Given the description of an element on the screen output the (x, y) to click on. 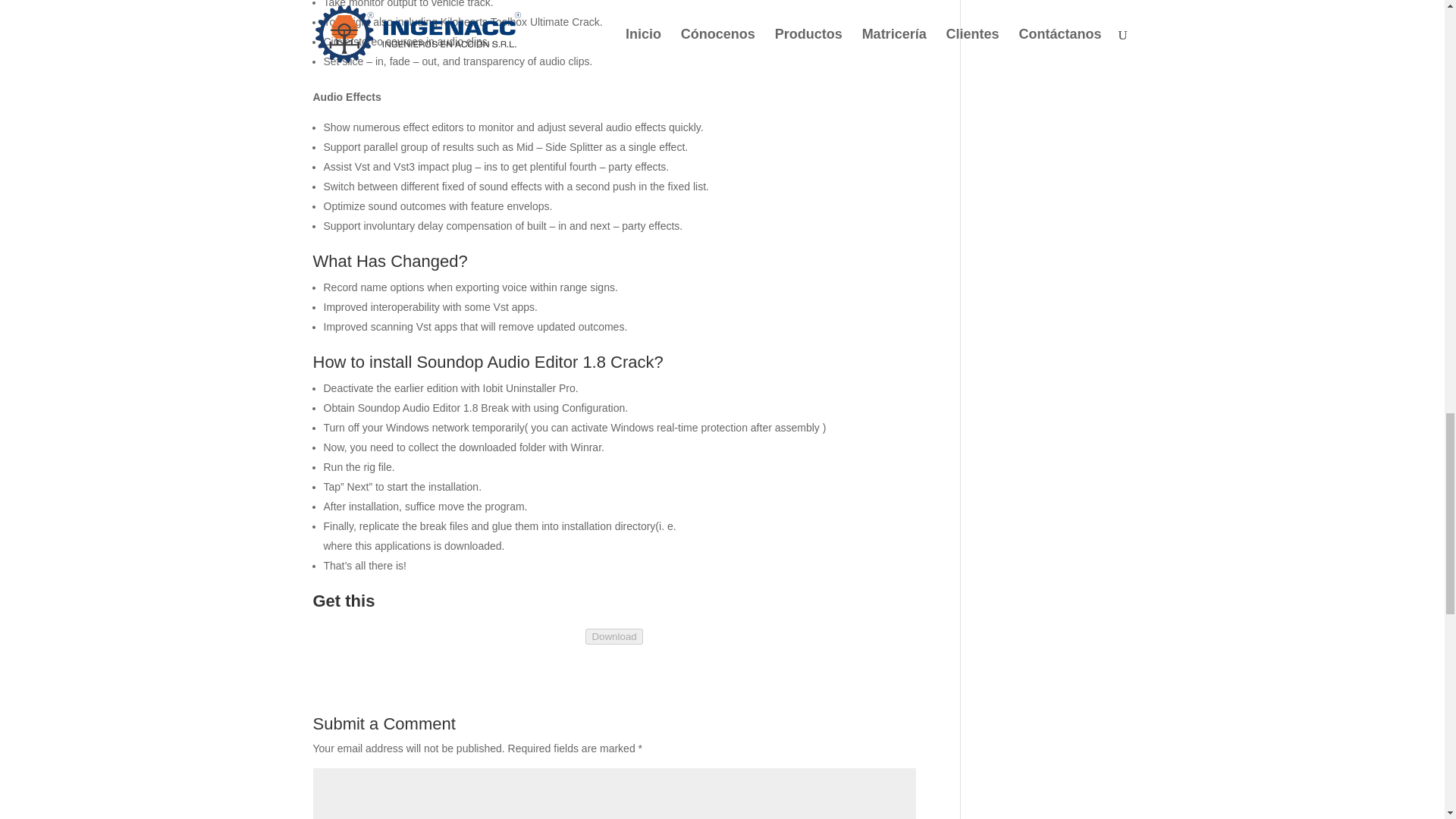
Download (613, 635)
Download (613, 636)
